Given the description of an element on the screen output the (x, y) to click on. 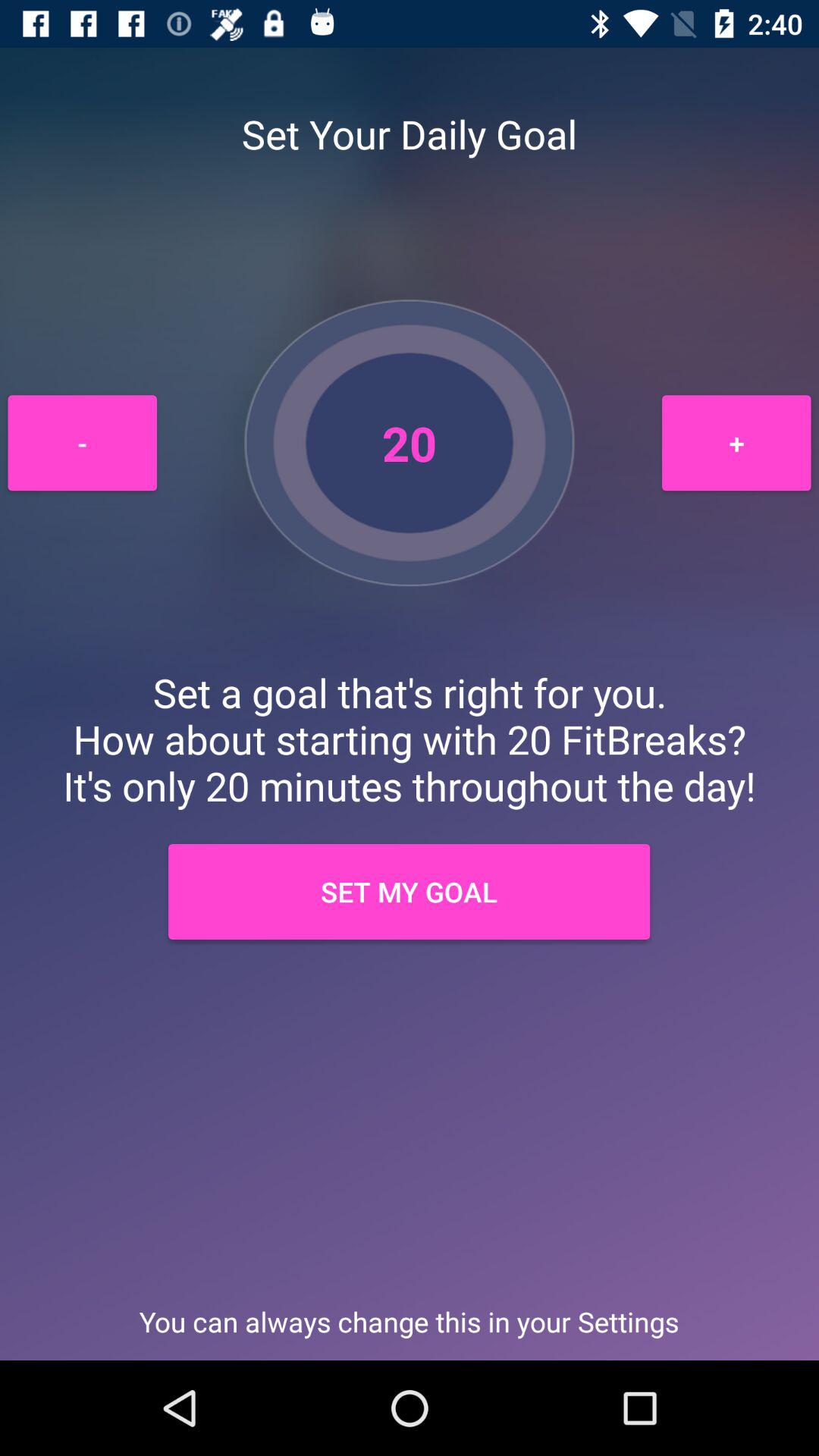
scroll until + icon (736, 442)
